Given the description of an element on the screen output the (x, y) to click on. 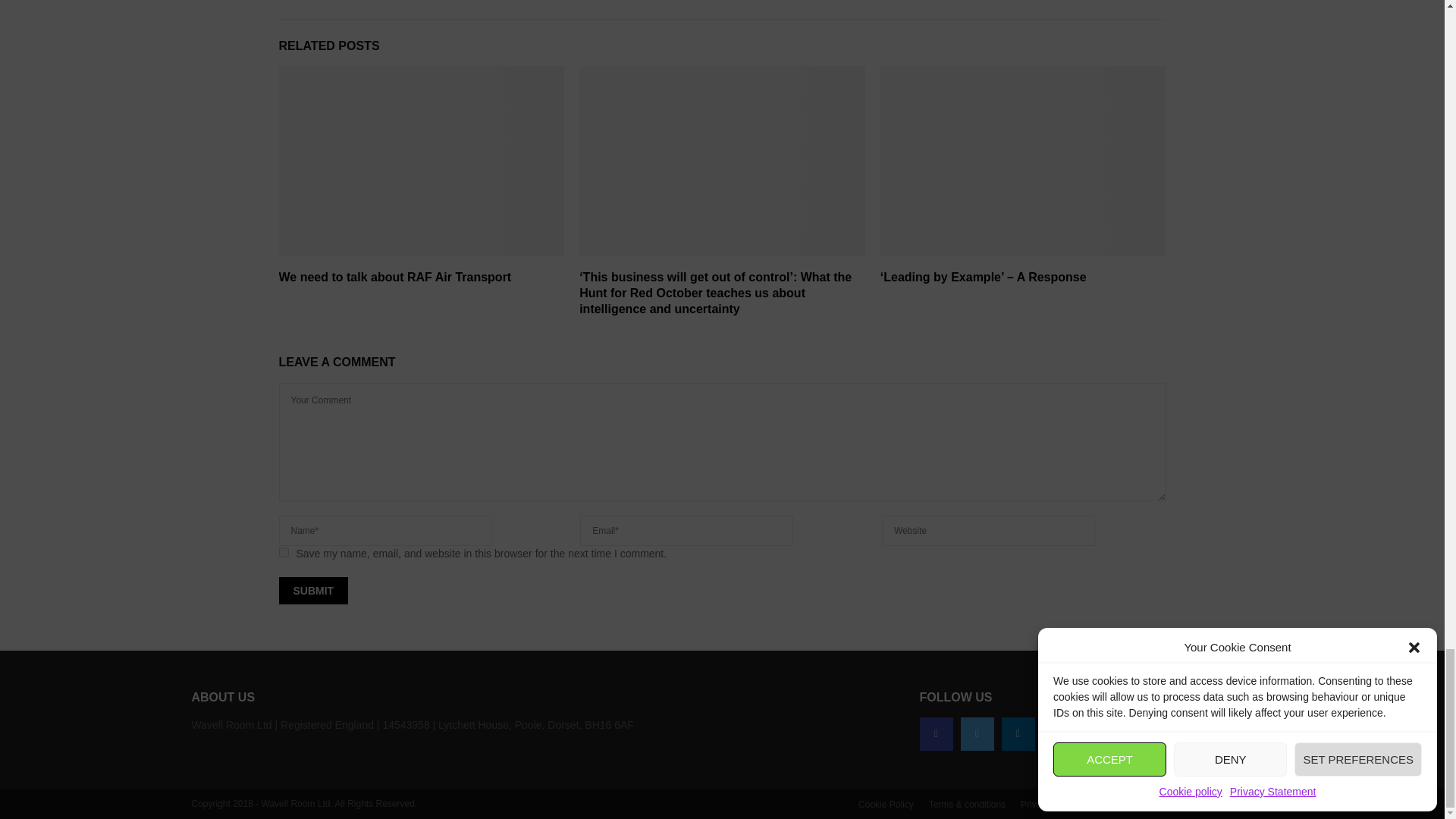
Submit (314, 590)
yes (283, 552)
